Given the description of an element on the screen output the (x, y) to click on. 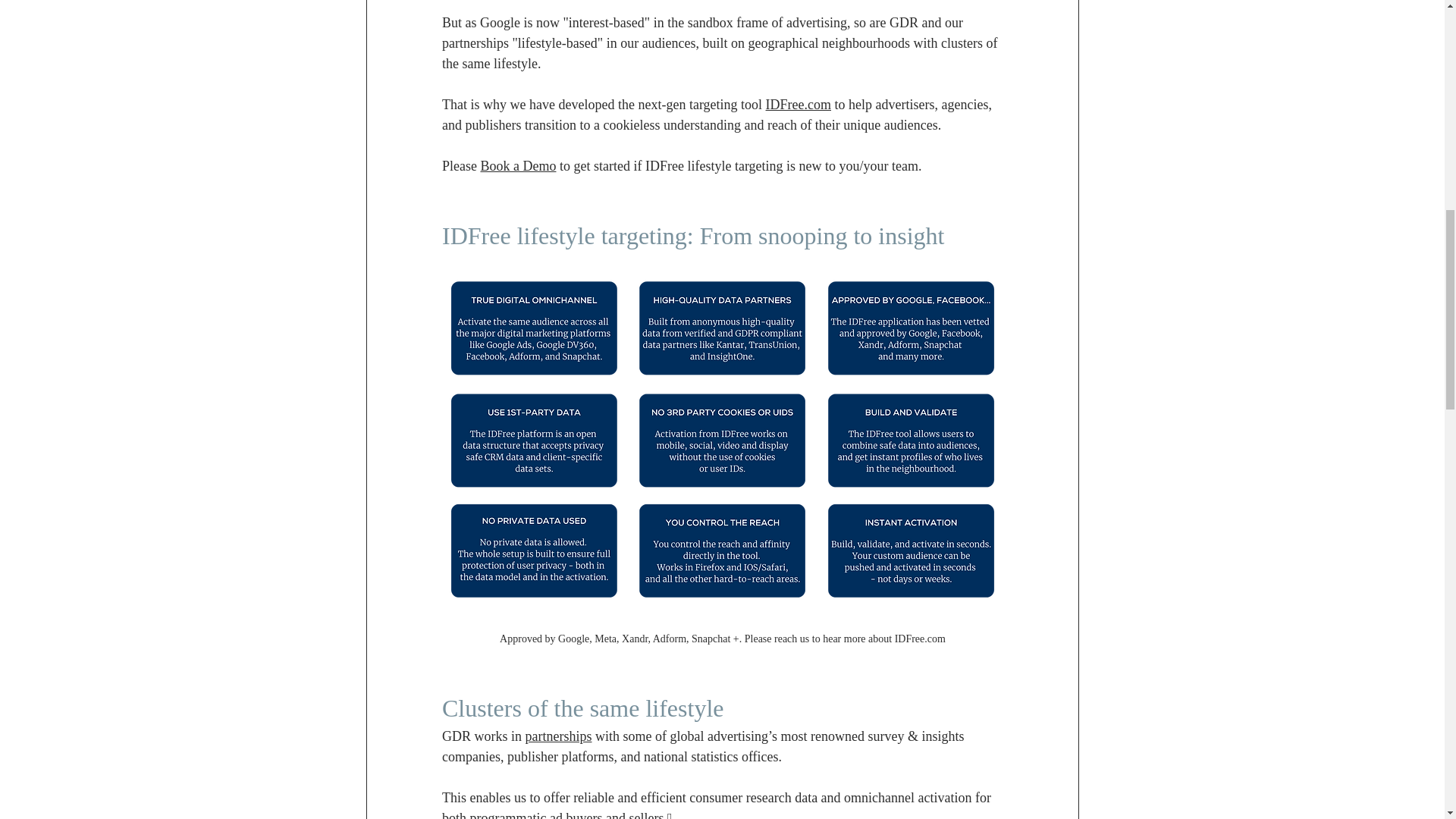
IDFree.com (797, 104)
Book a Demo (518, 165)
partnerships (557, 735)
